Given the description of an element on the screen output the (x, y) to click on. 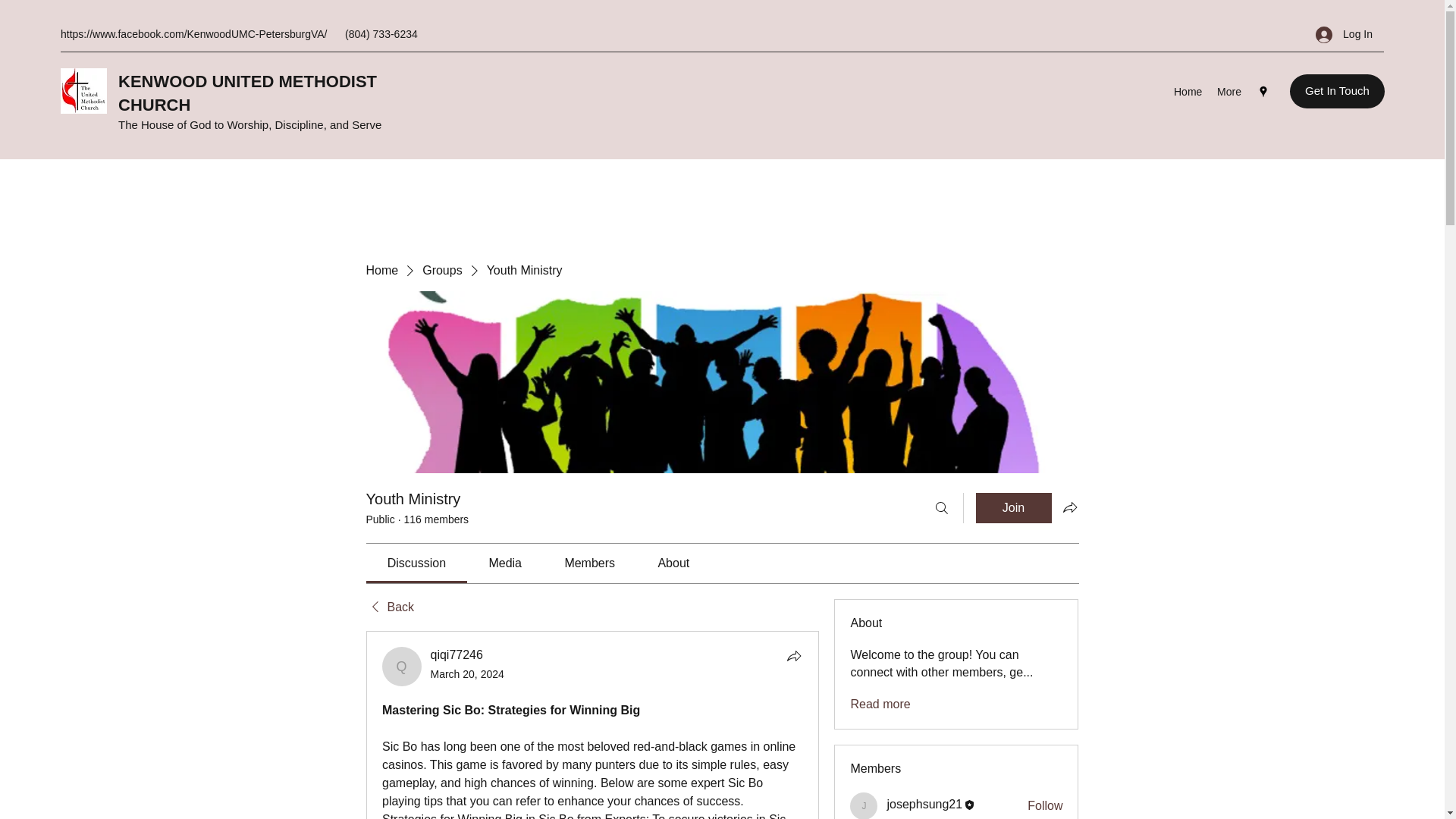
Log In (1343, 34)
josephsung21 (924, 803)
March 20, 2024 (466, 674)
KENWOOD UNITED METHODIST CHURCH (247, 93)
Read more (880, 704)
Join (1013, 508)
josephsung21 (863, 805)
Back (389, 606)
qiqi77246 (456, 654)
www.facebook.com (138, 33)
Groups (441, 270)
qiqi77246 (401, 666)
Home (381, 270)
Home (1187, 91)
